Given the description of an element on the screen output the (x, y) to click on. 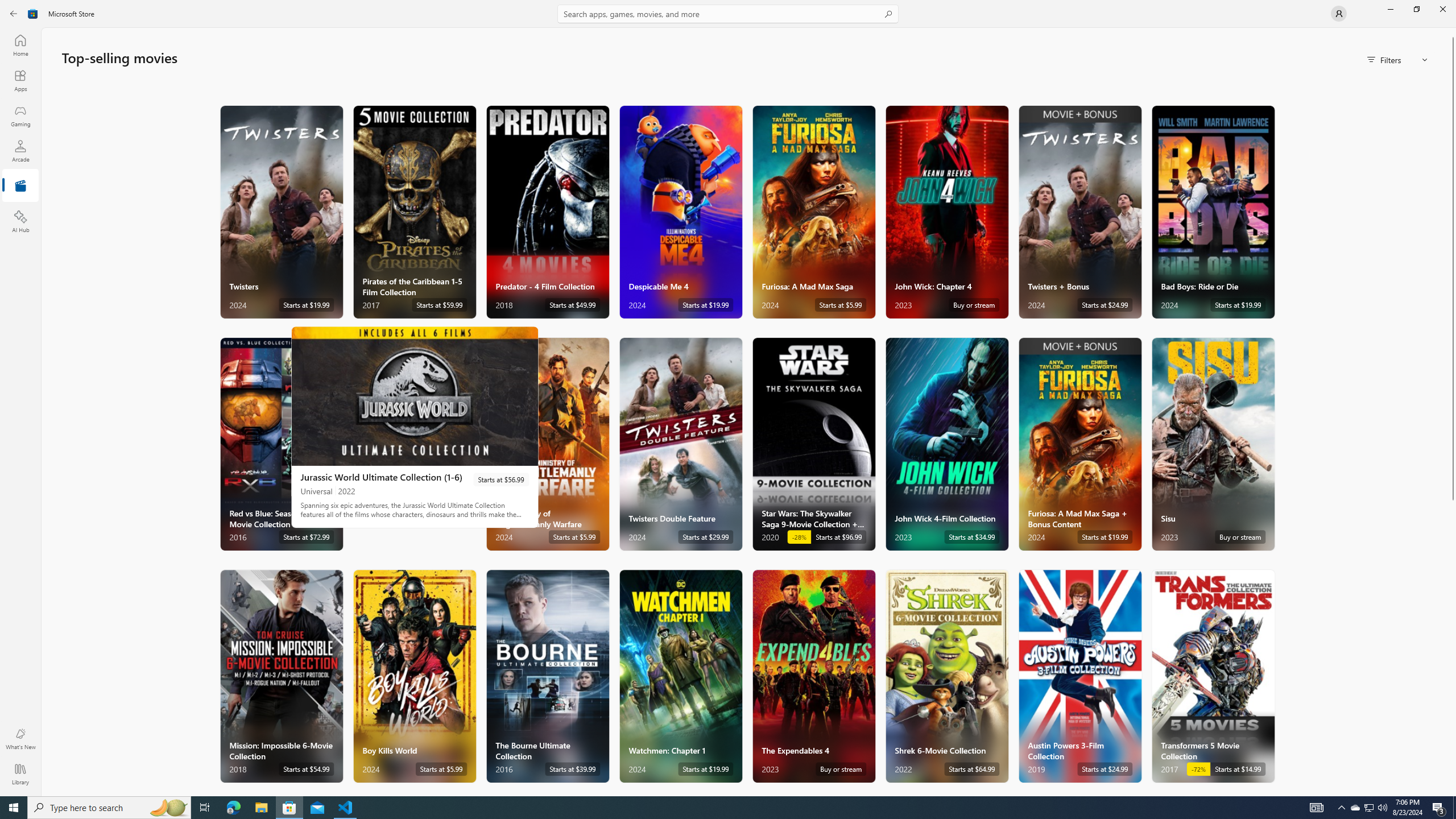
User profile (1338, 13)
AutomationID: NavigationControl (728, 398)
Close Microsoft Store (1442, 9)
Boy Kills World. Starts at $5.99   (414, 675)
Screenshot 1 (414, 396)
Gaming (20, 115)
Minimize Microsoft Store (1390, 9)
Back (13, 13)
AI Hub (20, 221)
Entertainment (20, 185)
Filters (1397, 59)
